Given the description of an element on the screen output the (x, y) to click on. 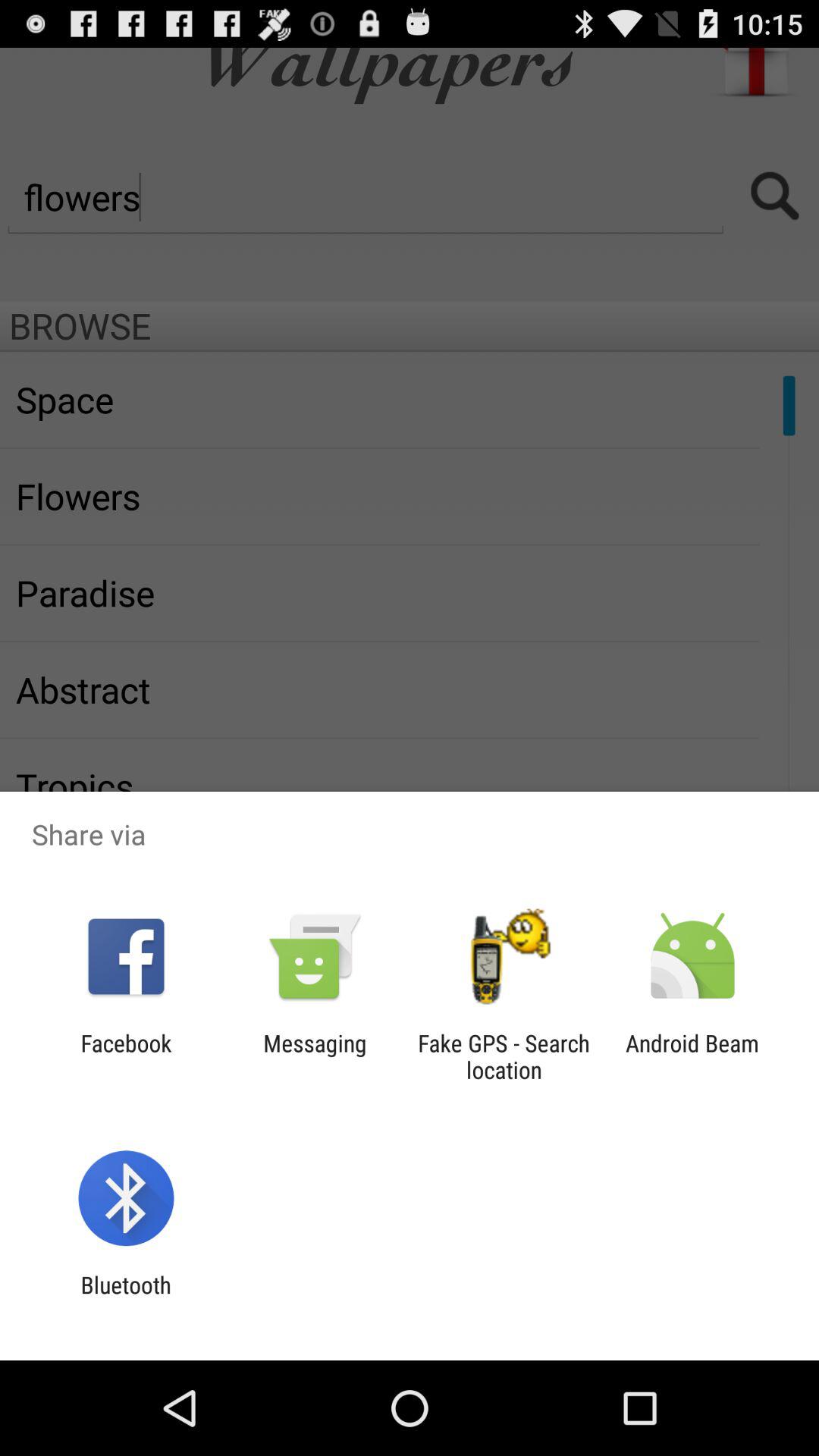
choose the app next to the android beam icon (503, 1056)
